Given the description of an element on the screen output the (x, y) to click on. 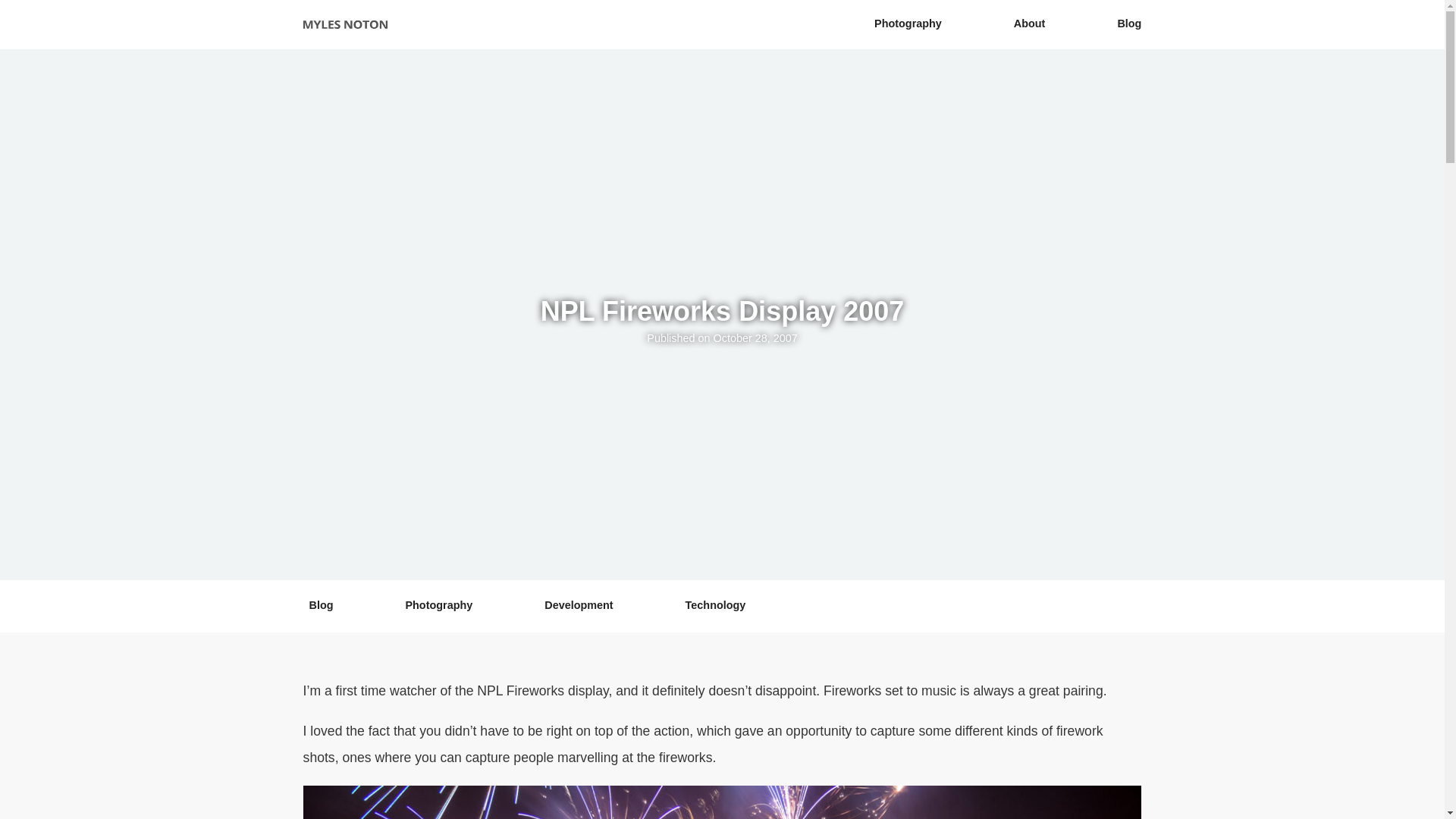
Photography (907, 24)
Home (344, 24)
About (1029, 24)
Blog (1115, 24)
Photography (438, 603)
Development (578, 603)
Blog (333, 603)
Technology (716, 603)
Home (344, 24)
